Given the description of an element on the screen output the (x, y) to click on. 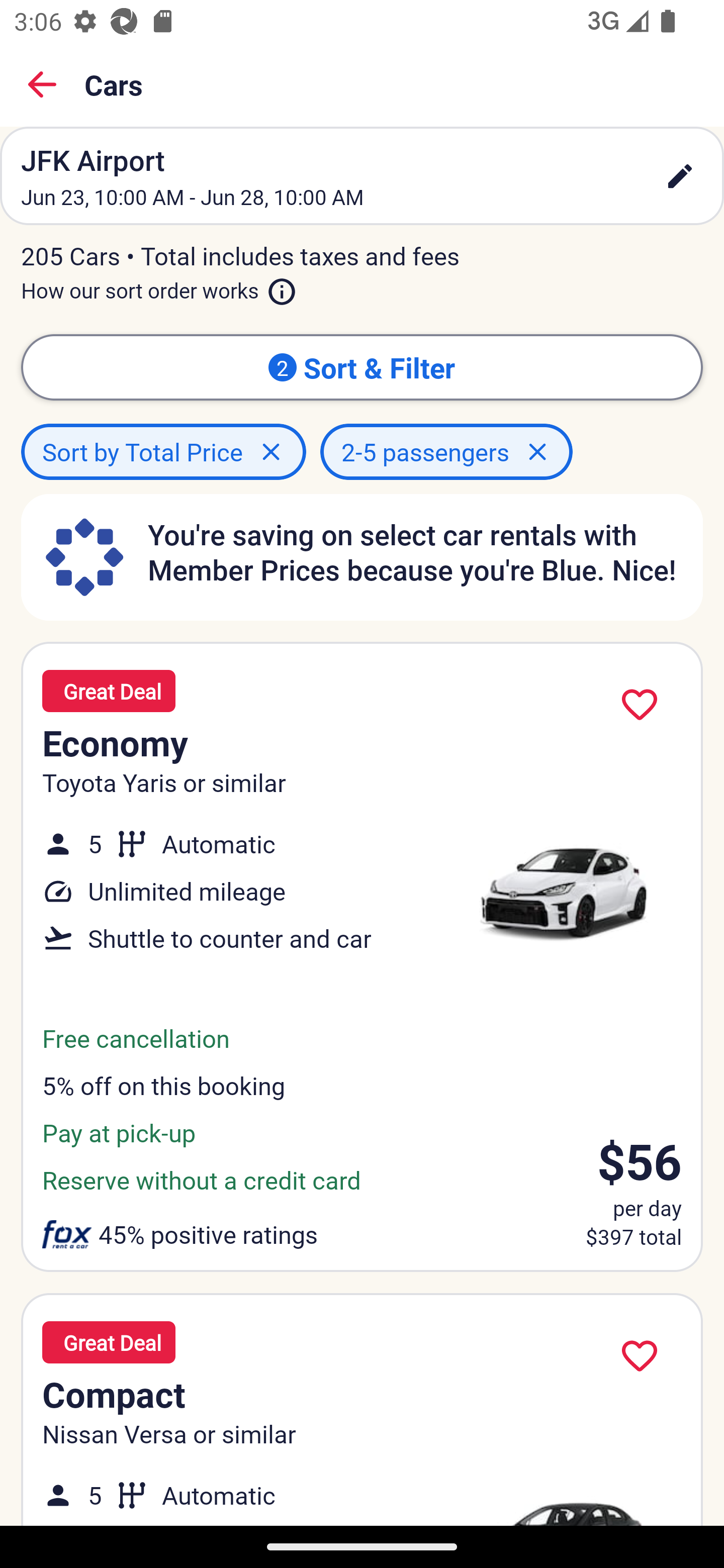
Back (42, 84)
edit (679, 175)
2 Sort & Filter (361, 366)
